Given the description of an element on the screen output the (x, y) to click on. 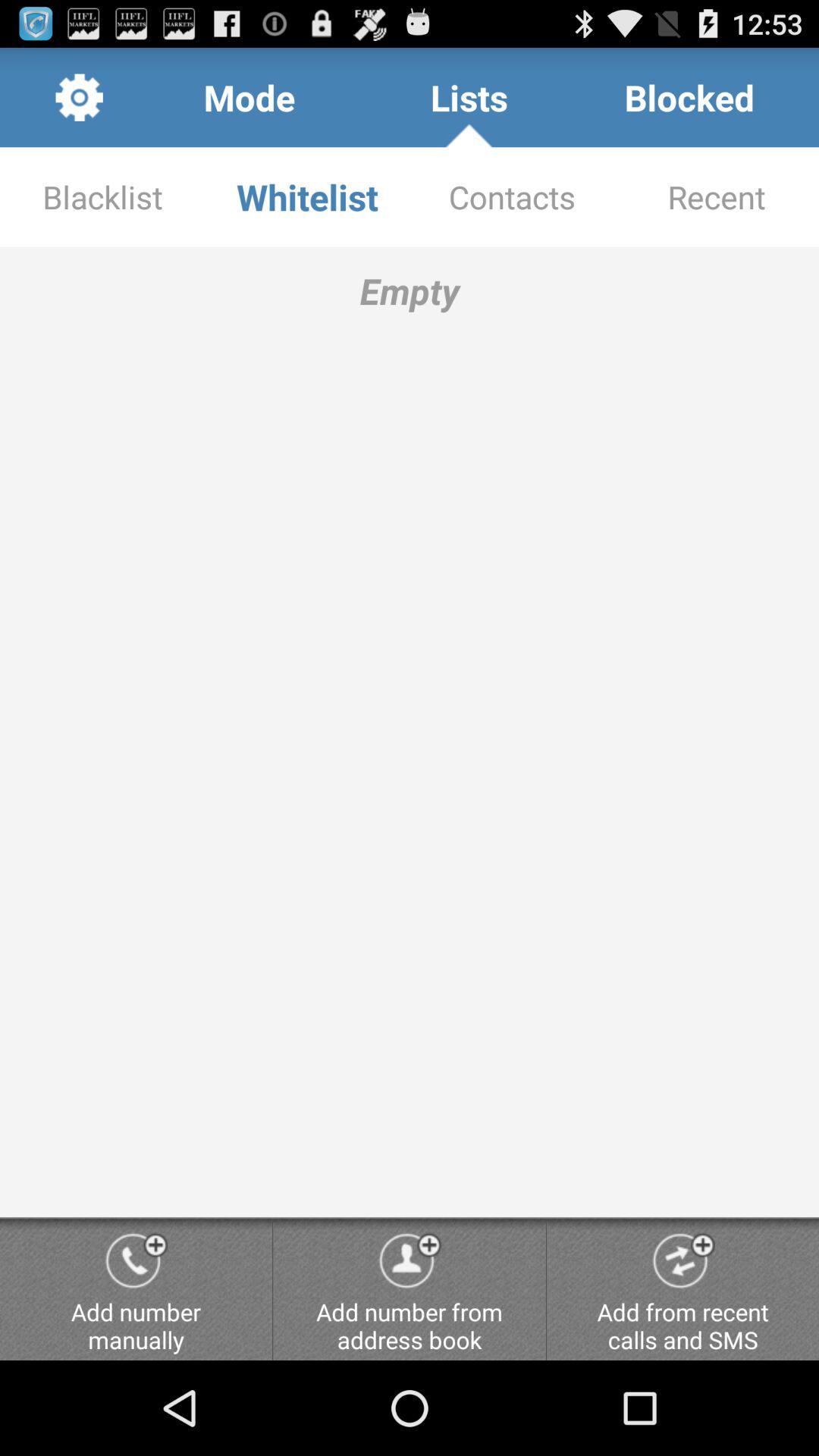
choose item below mode item (306, 196)
